Given the description of an element on the screen output the (x, y) to click on. 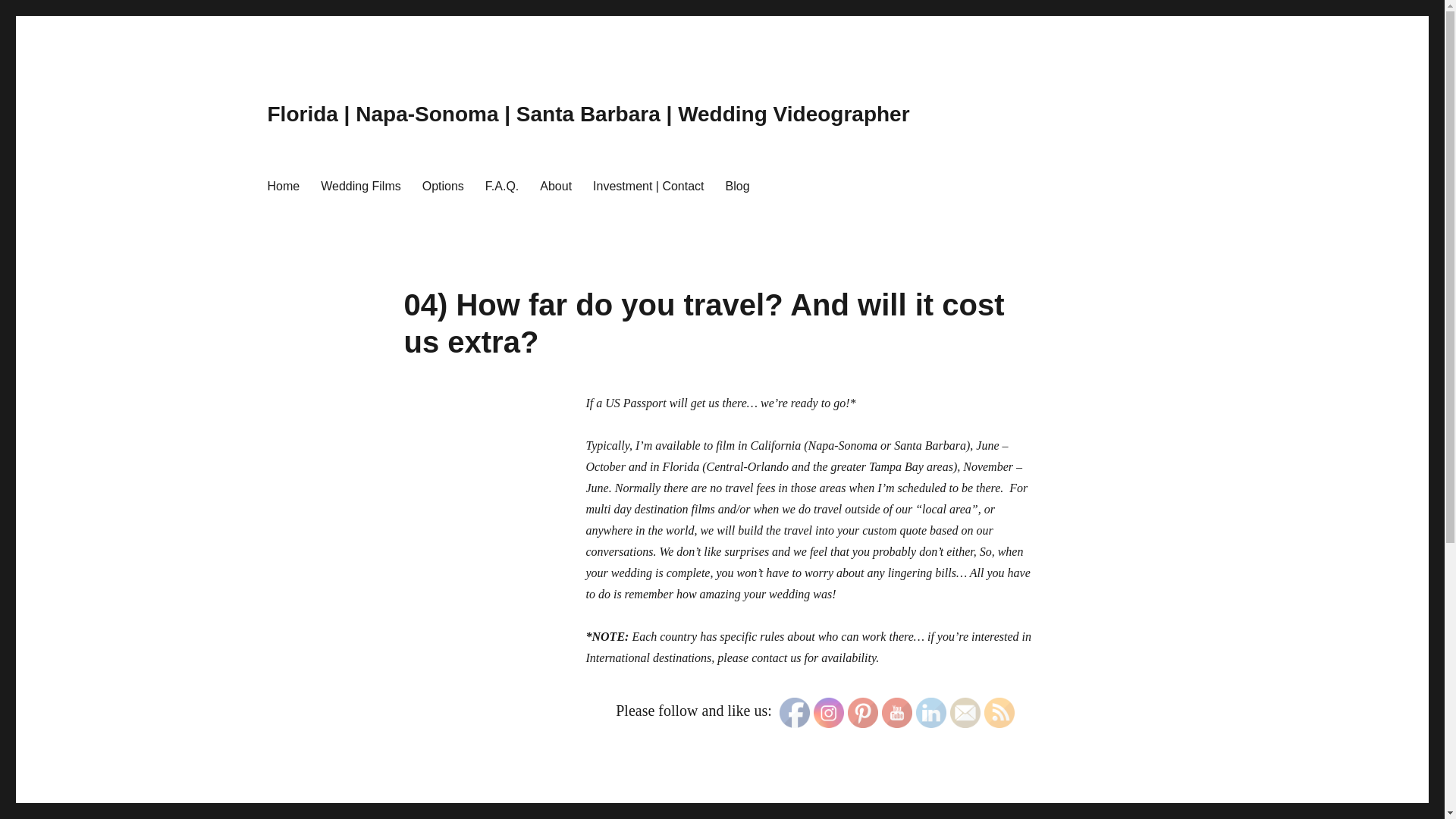
Options (443, 185)
Pinterest (862, 712)
Blog (737, 185)
LinkedIn (930, 712)
F.A.Q. (501, 185)
YouTube (897, 712)
Home (283, 185)
Wedding Films (361, 185)
About (555, 185)
RSS (999, 712)
INSTAGRAM (828, 712)
Facebook (793, 712)
Follow by Email (964, 712)
